Given the description of an element on the screen output the (x, y) to click on. 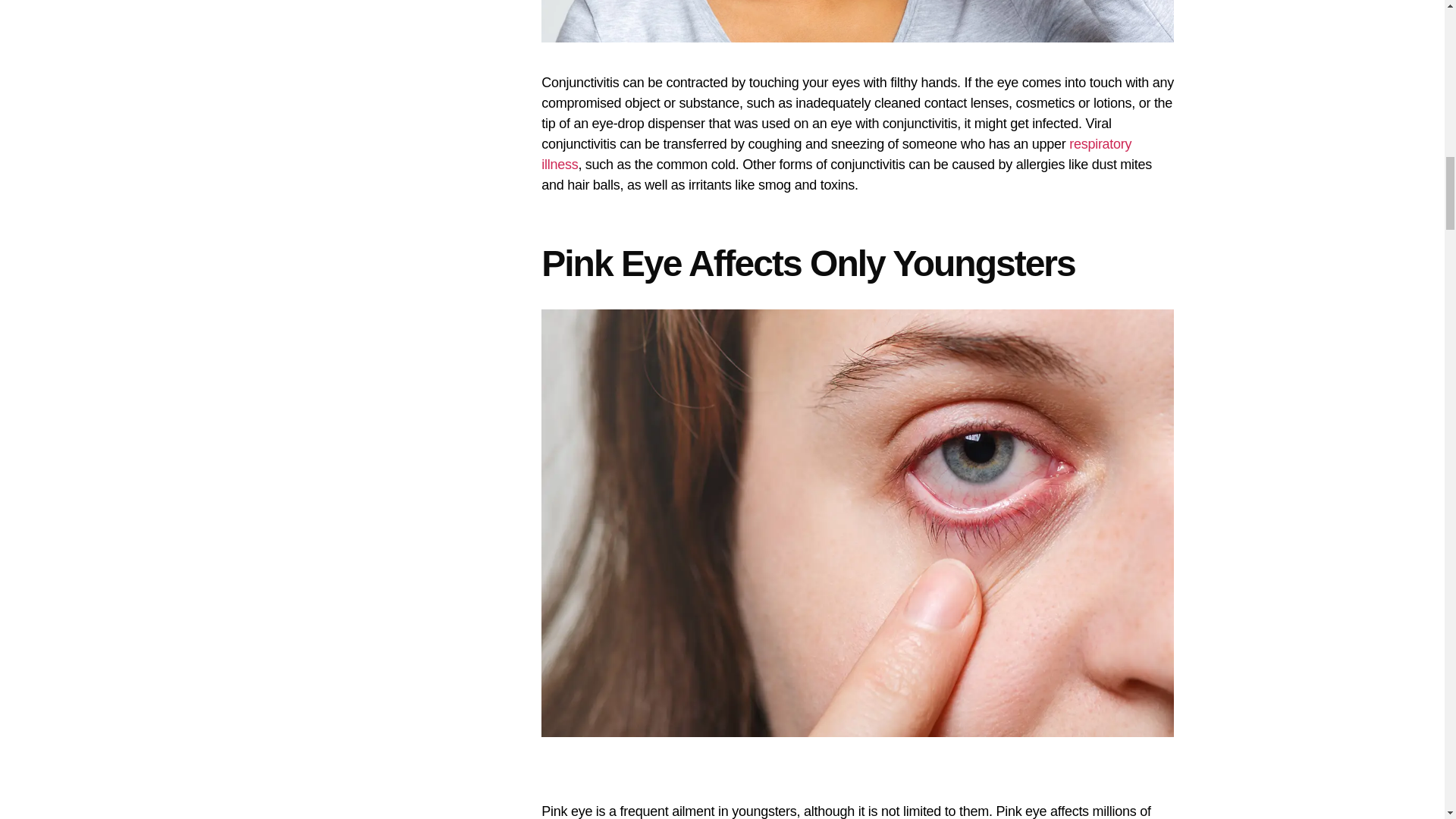
You Won't Develop Pink Eye If You Don't Rub Your Eyes (857, 21)
respiratory illness (836, 153)
